Given the description of an element on the screen output the (x, y) to click on. 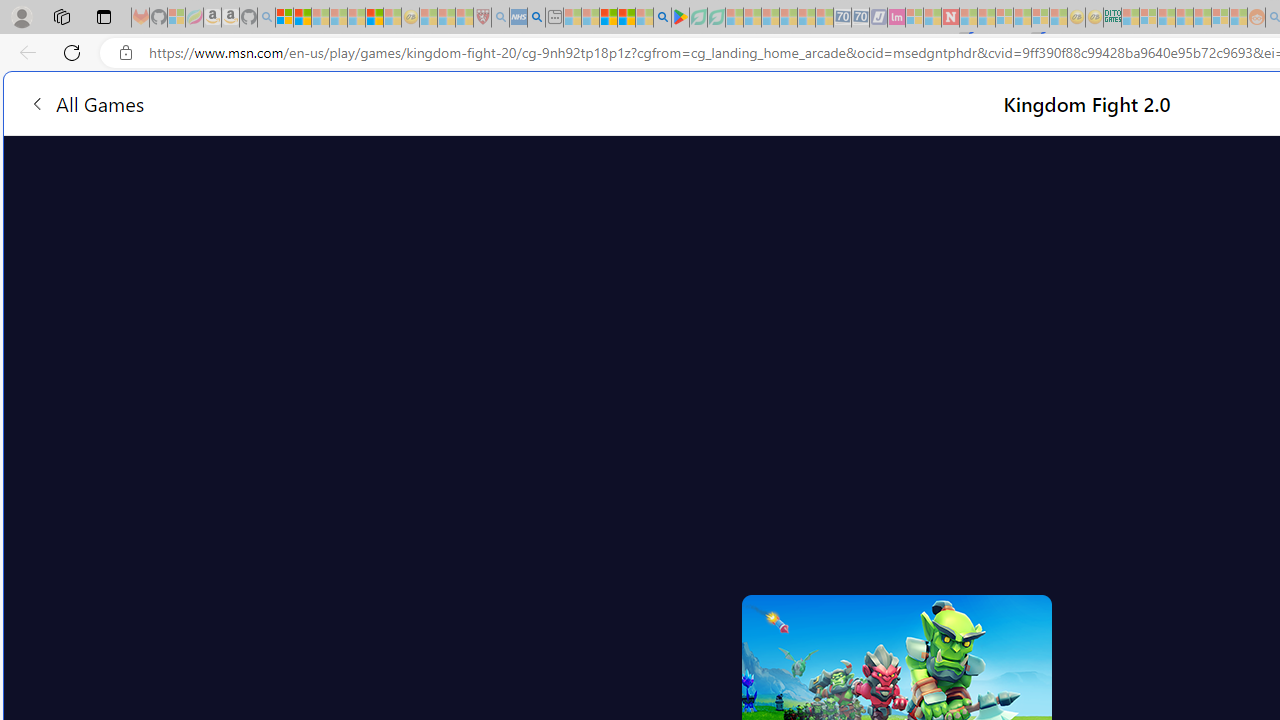
Expert Portfolios - Sleeping (1184, 17)
